Given the description of an element on the screen output the (x, y) to click on. 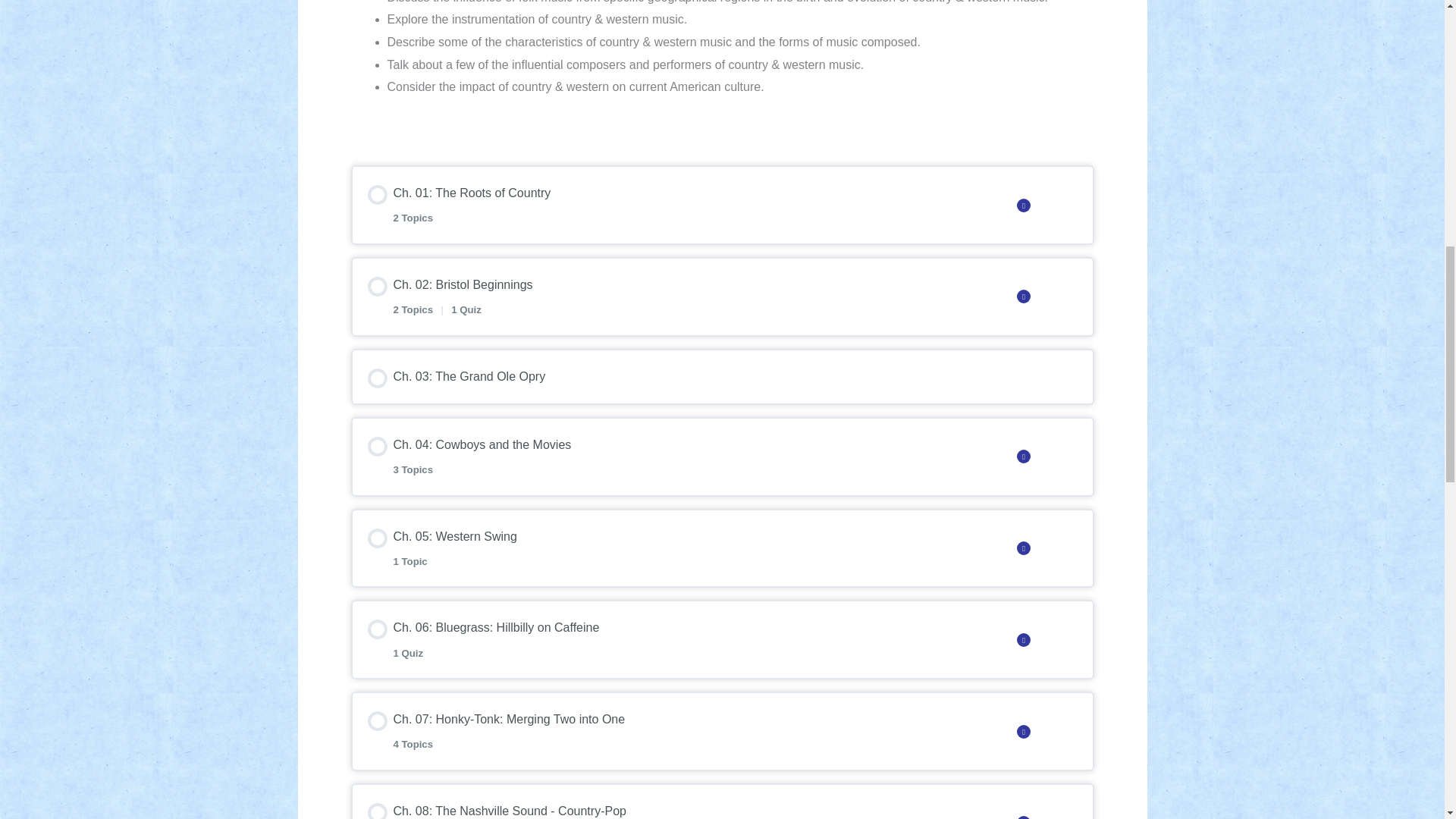
Ch. 03: The Grand Ole Opry (686, 731)
